Given the description of an element on the screen output the (x, y) to click on. 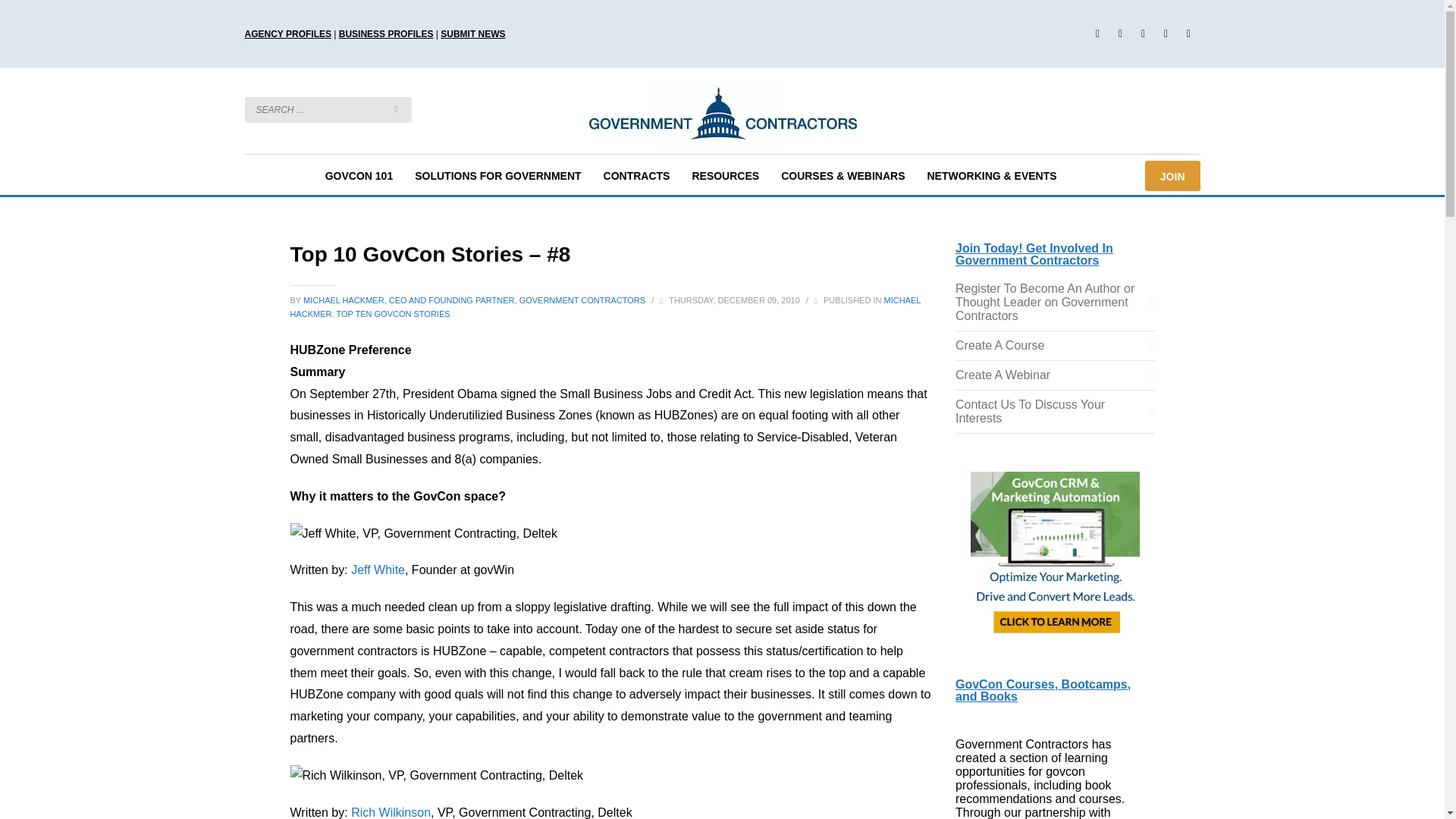
SUBMIT NEWS (473, 33)
LinkedIn (1165, 33)
GOVCON 101 (358, 175)
BUSINESS PROFILES (386, 33)
Twitter (1119, 33)
SOLUTIONS FOR GOVERNMENT (497, 175)
Instagram (1142, 33)
AGENCY PROFILES (287, 33)
go (395, 109)
Facebook (1097, 33)
YouTube (1187, 33)
